Given the description of an element on the screen output the (x, y) to click on. 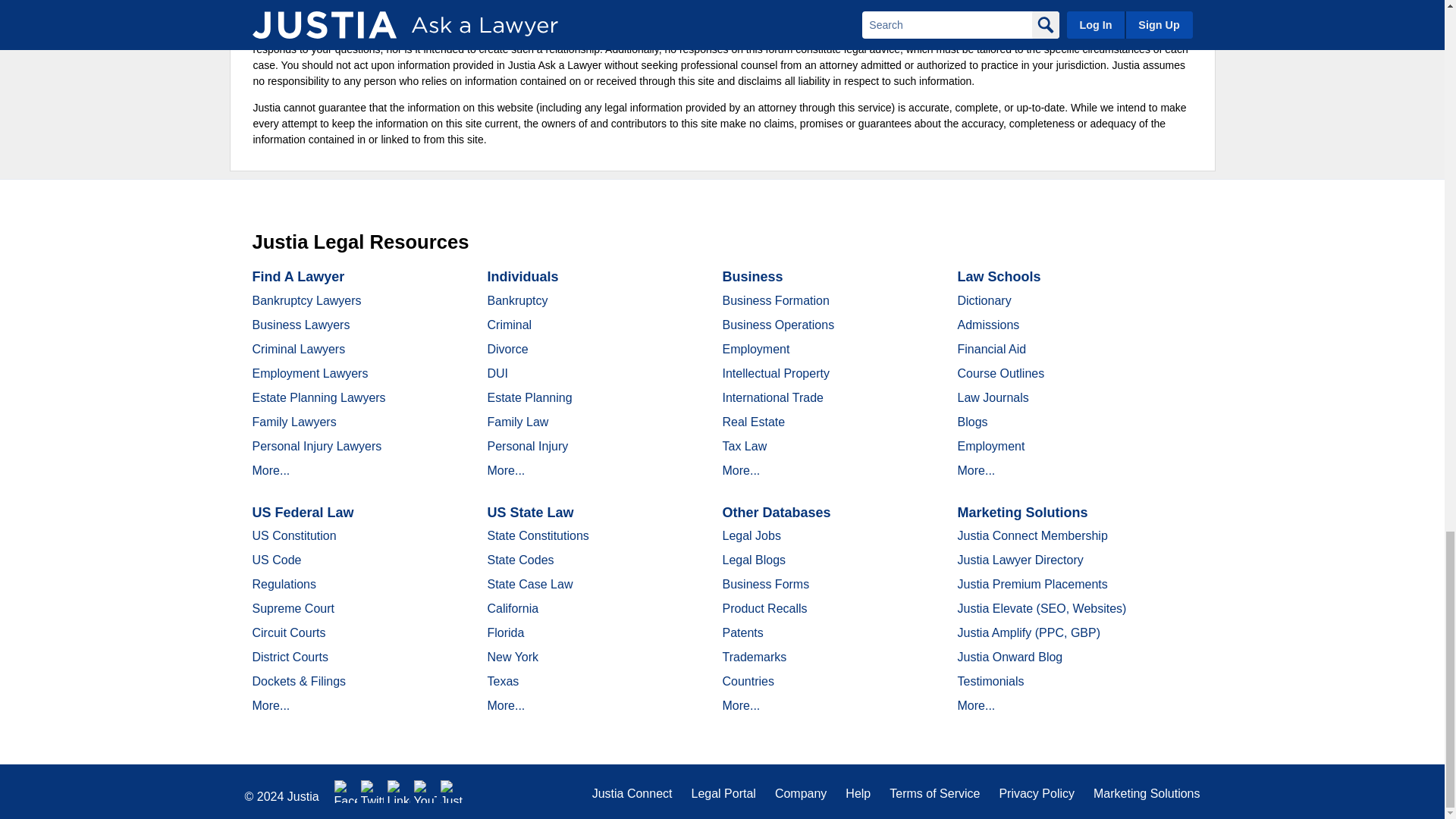
Justia Lawyer Directory (452, 791)
YouTube (424, 791)
LinkedIn (398, 791)
Twitter (372, 791)
Facebook (345, 791)
